Given the description of an element on the screen output the (x, y) to click on. 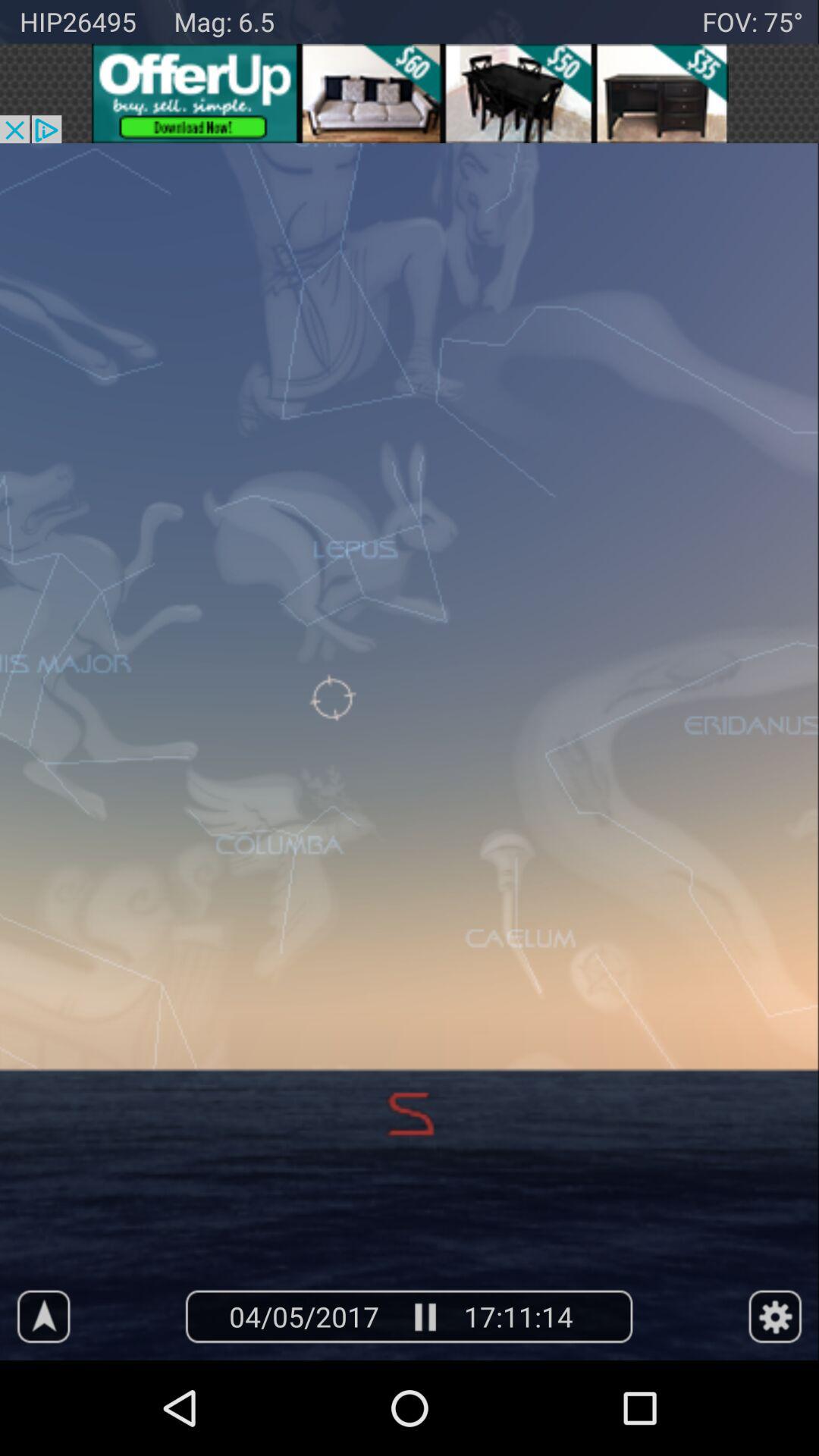
open advertisement (409, 93)
